Given the description of an element on the screen output the (x, y) to click on. 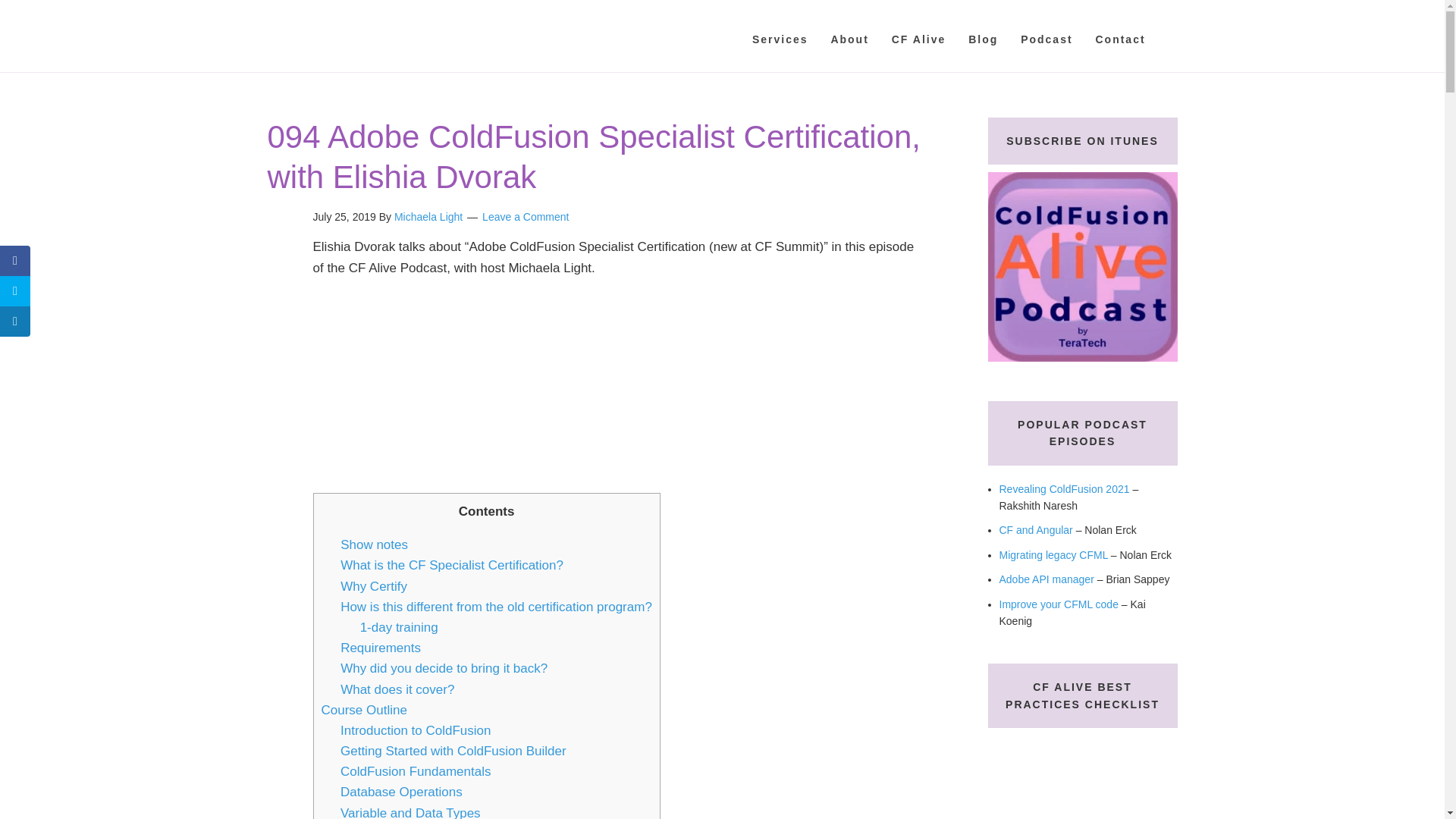
Introduction to ColdFusion (415, 730)
Why Certify (373, 586)
Podcast (1046, 39)
ColdFusion Fundamentals (415, 771)
About (849, 39)
What does it cover? (397, 689)
Blog (983, 39)
Getting Started with ColdFusion Builder (453, 750)
Leave a Comment (525, 216)
CF Alive (918, 39)
